Given the description of an element on the screen output the (x, y) to click on. 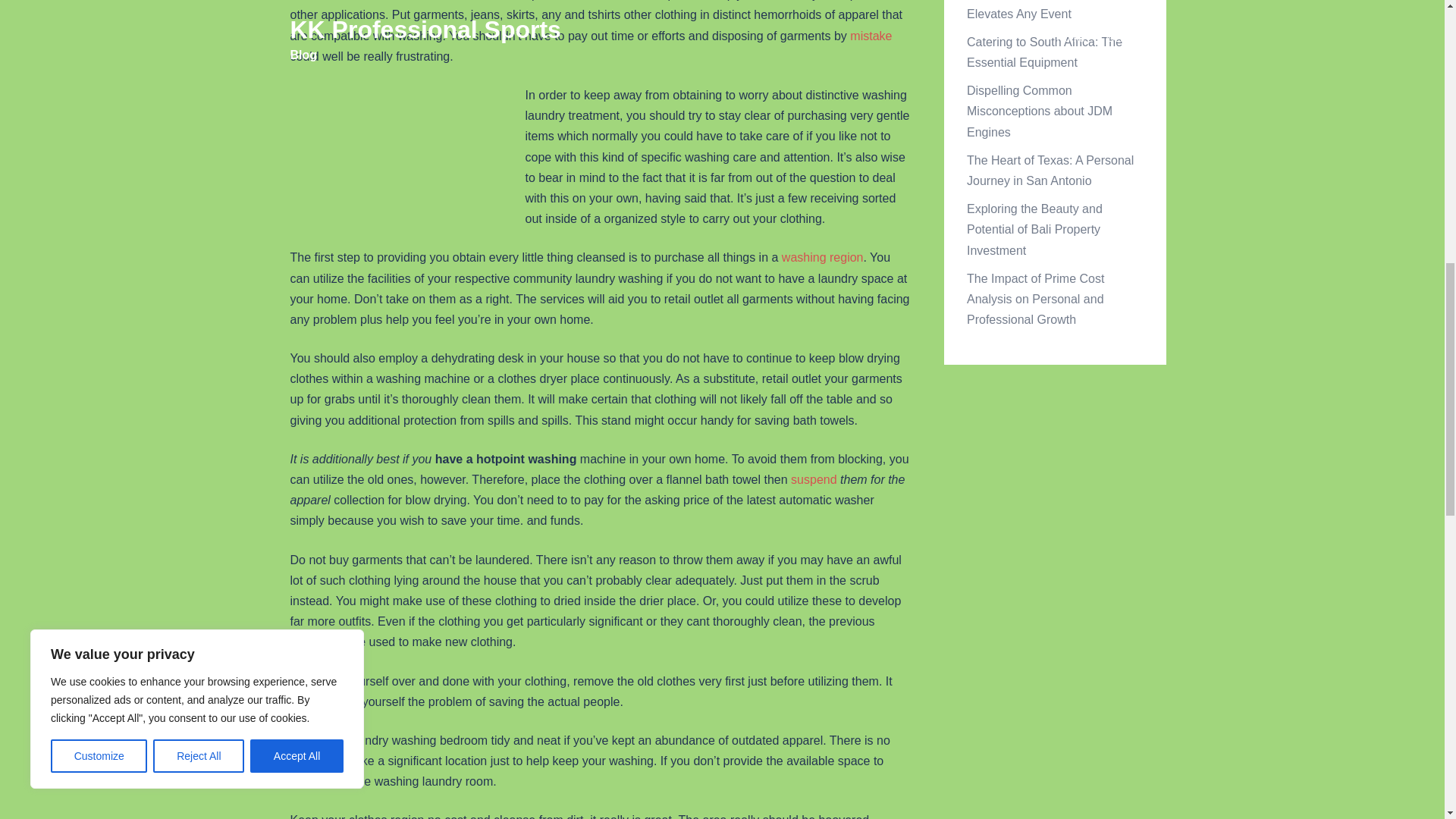
suspend (813, 479)
mistake (870, 35)
washing region (822, 256)
